Given the description of an element on the screen output the (x, y) to click on. 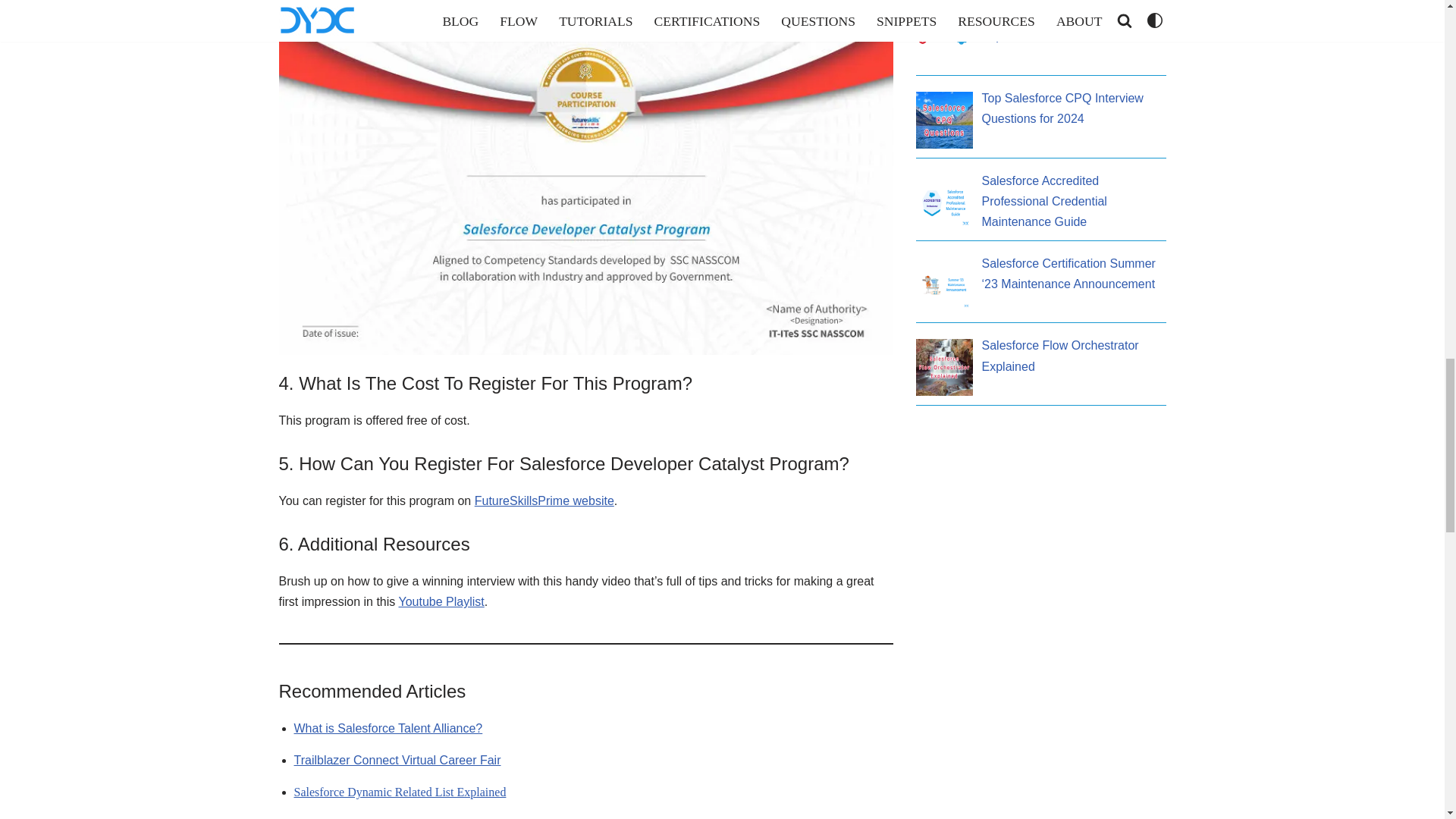
Trailblazer Connect Virtual Career Fair (397, 759)
Salesforce Dynamic Related List Explained (400, 791)
What is Salesforce Talent Alliance? (388, 727)
Youtube Playlist (440, 601)
FutureSkillsPrime website (544, 500)
